Given the description of an element on the screen output the (x, y) to click on. 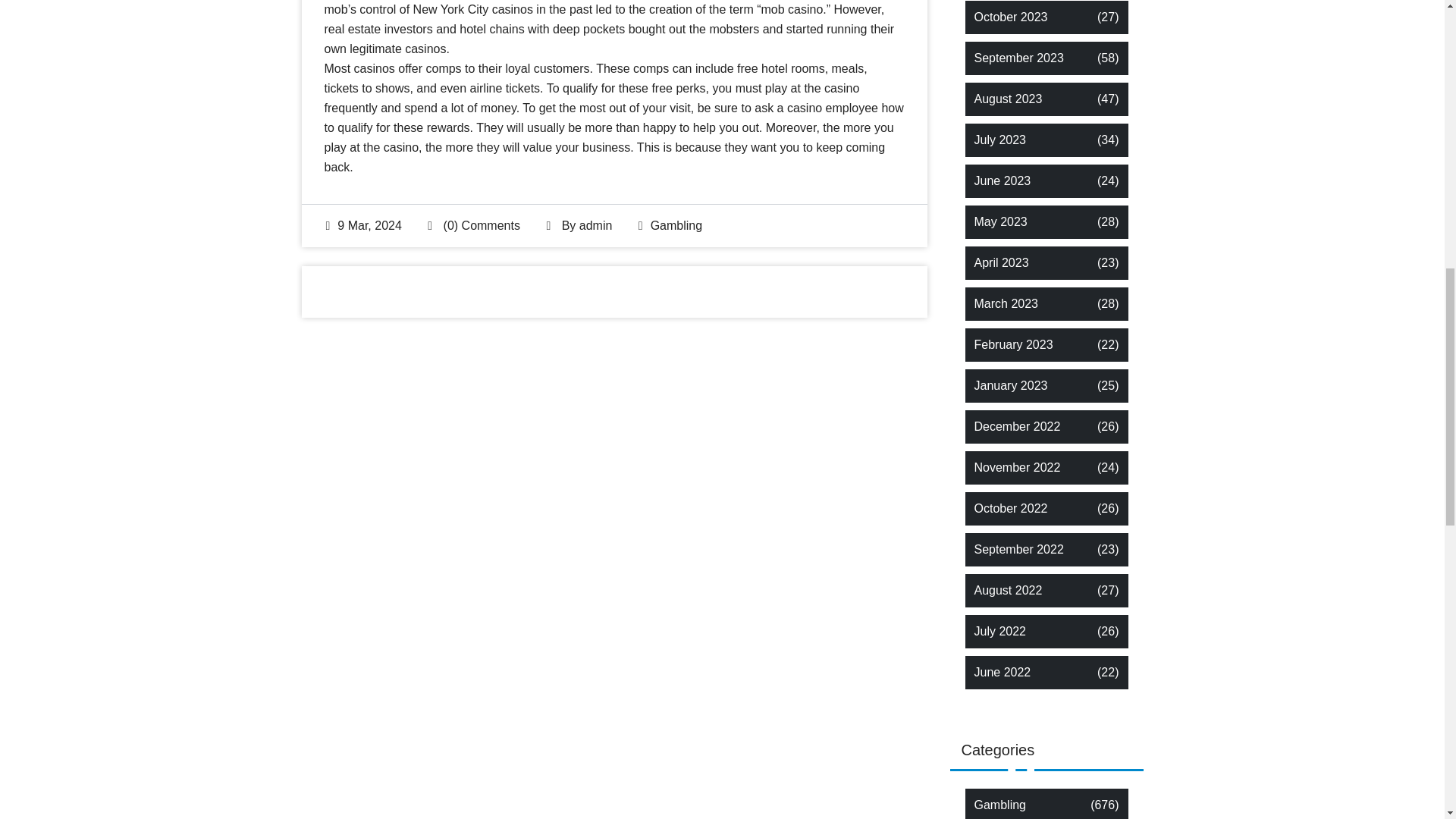
September 2022 (1018, 549)
June 2023 (1002, 180)
April 2023 (1000, 262)
August 2023 (1008, 99)
December 2022 (1016, 426)
September 2023 (1018, 58)
October 2022 (1010, 508)
admin (595, 225)
July 2023 (1000, 140)
9 Mar, 2024 (363, 225)
November 2022 (1016, 467)
February 2023 (1013, 344)
January 2023 (1010, 385)
October 2023 (1010, 17)
March 2023 (1006, 303)
